Given the description of an element on the screen output the (x, y) to click on. 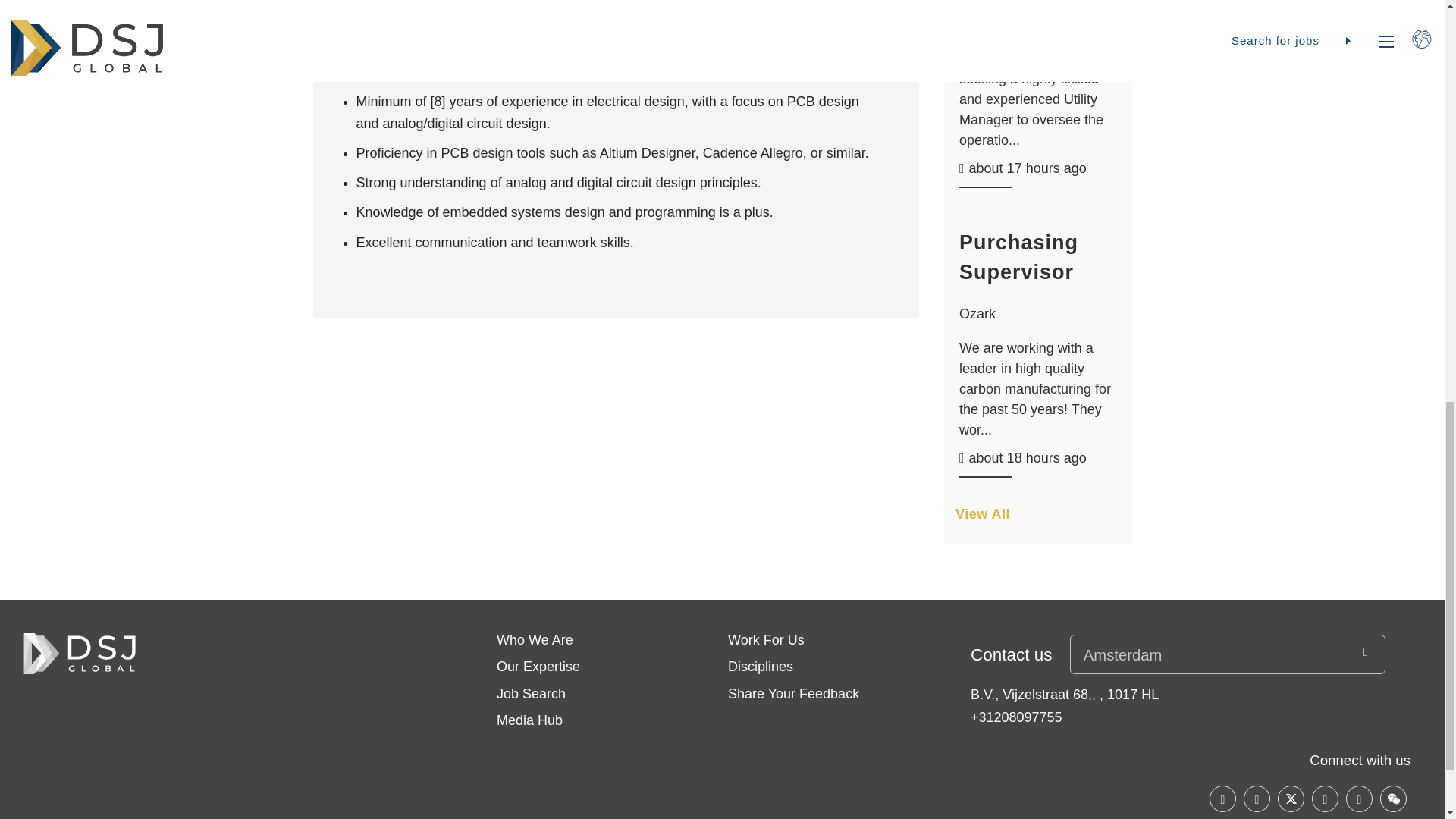
Go to the Homepage (79, 653)
View All (1037, 519)
YouTube (1359, 798)
LinkedIn (1256, 798)
WeChat (1393, 798)
Twitter (1291, 798)
DSJ Global HK (79, 653)
Facebook (1222, 798)
Instagram (1324, 798)
